Given the description of an element on the screen output the (x, y) to click on. 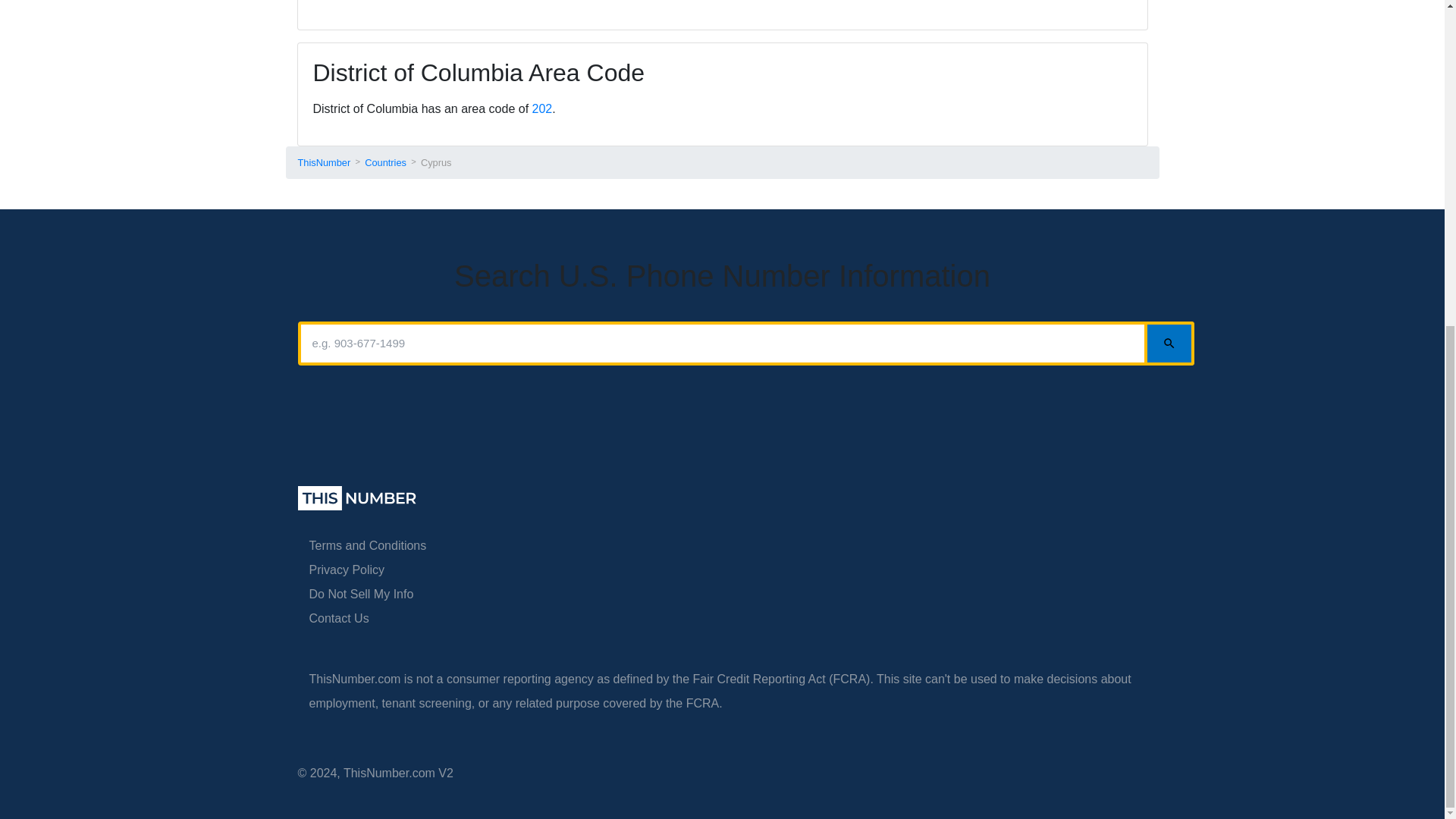
Countries (385, 162)
Privacy Policy (346, 569)
202 (542, 108)
Do Not Sell My Info (360, 594)
ThisNumber (323, 162)
Contact Us (338, 617)
Terms and Conditions (367, 545)
